Given the description of an element on the screen output the (x, y) to click on. 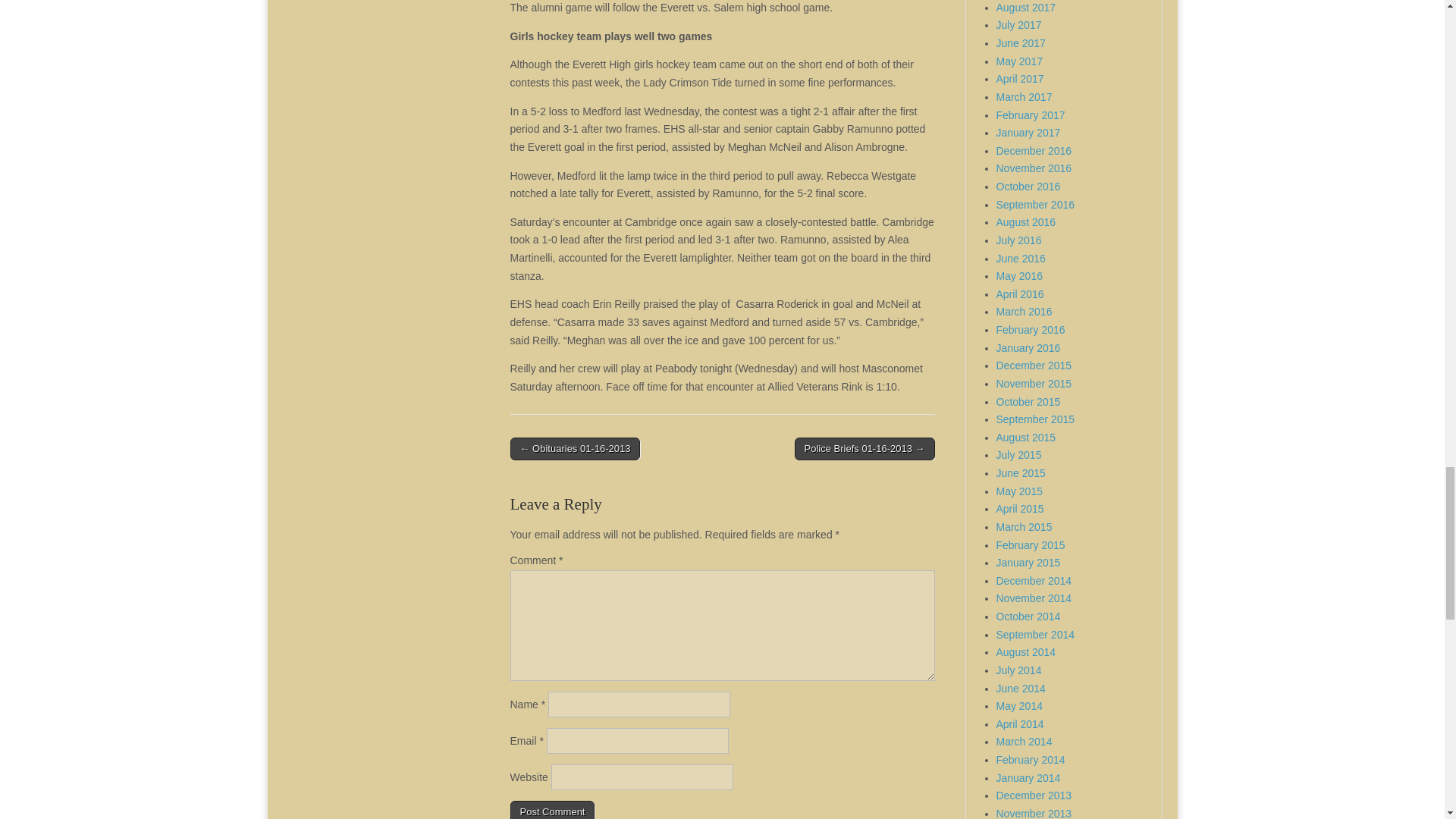
Post Comment (551, 809)
Post Comment (551, 809)
